Given the description of an element on the screen output the (x, y) to click on. 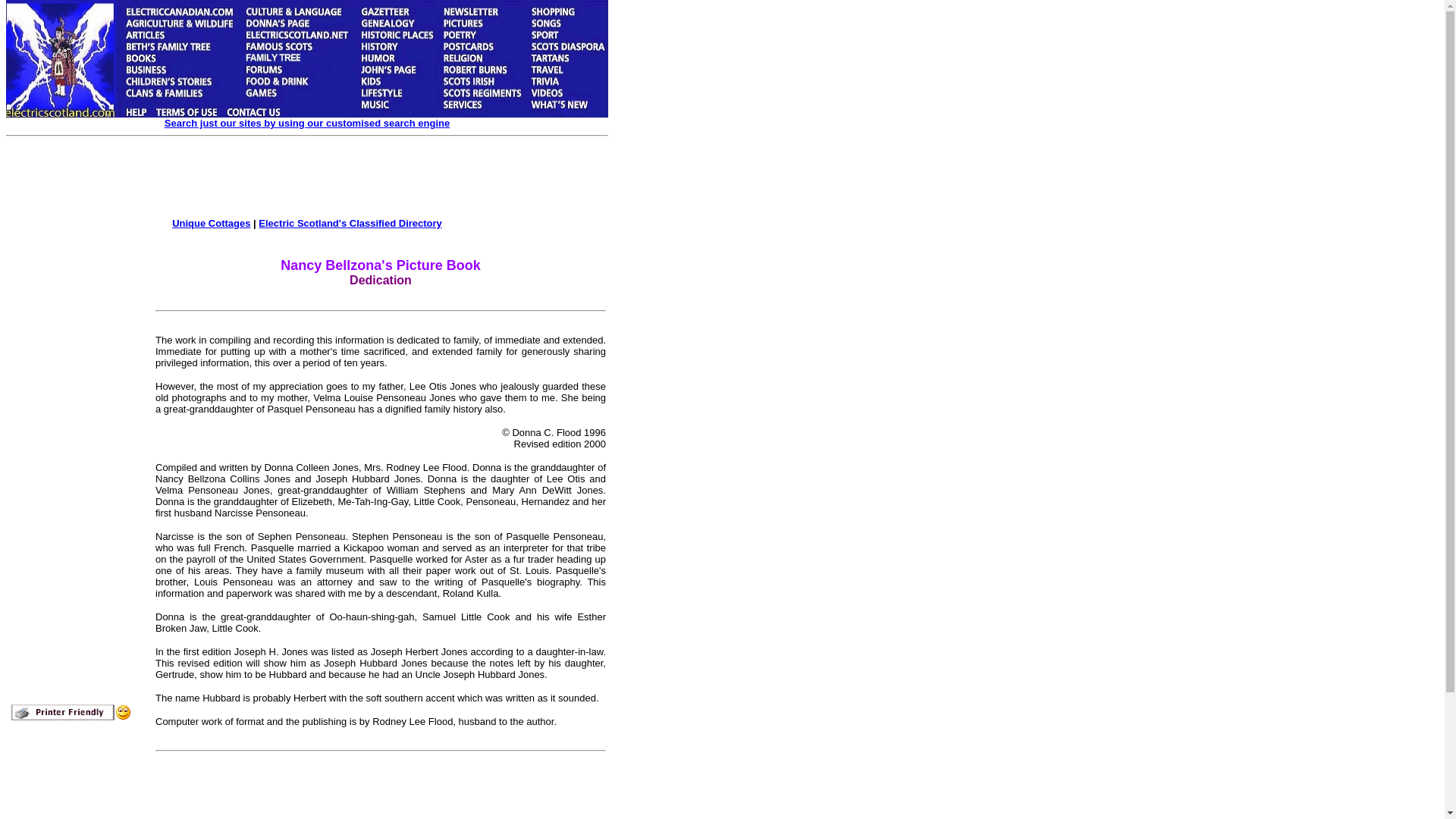
Electric Scotland's Classified Directory (350, 223)
Search just our sites by using our customised search engine (306, 122)
advertisement (334, 178)
Unique Cottages (210, 223)
